Given the description of an element on the screen output the (x, y) to click on. 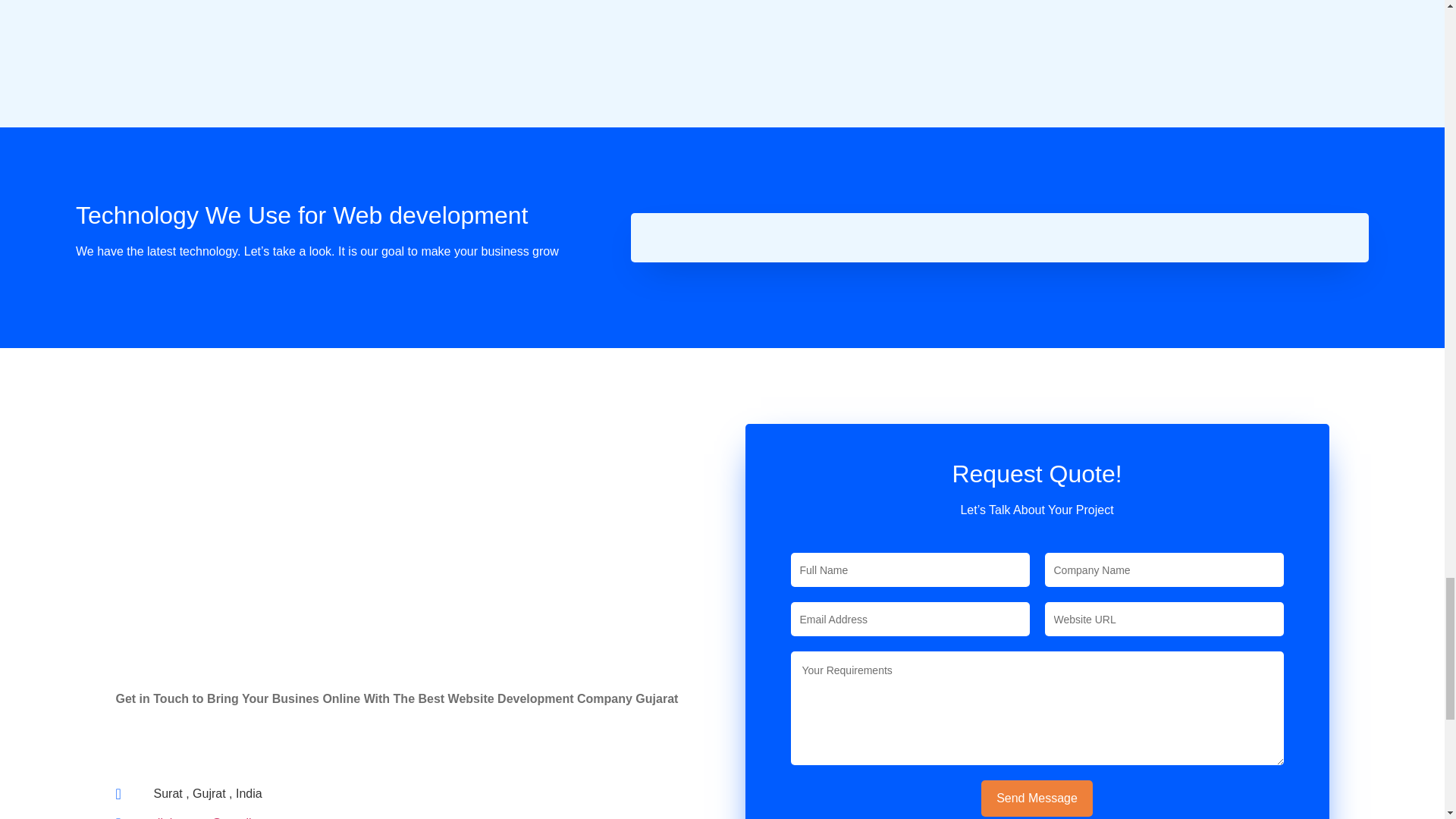
Send Message (1037, 798)
